Given the description of an element on the screen output the (x, y) to click on. 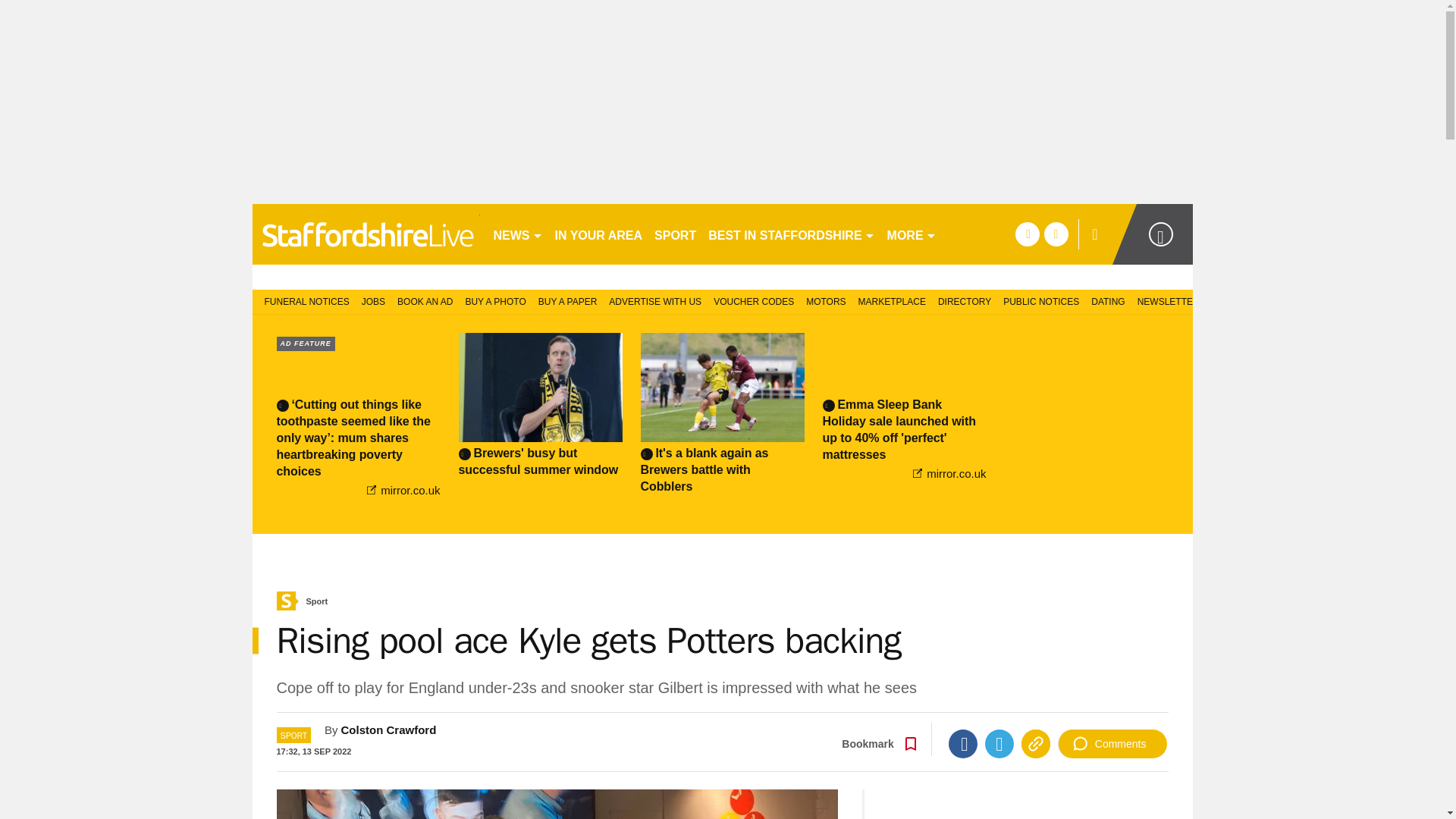
IN YOUR AREA (598, 233)
Facebook (962, 743)
facebook (1026, 233)
MORE (911, 233)
BUY A PAPER (568, 300)
MARKETPLACE (891, 300)
VOUCHER CODES (753, 300)
ADVERTISE WITH US (654, 300)
Comments (1112, 743)
twitter (1055, 233)
